Given the description of an element on the screen output the (x, y) to click on. 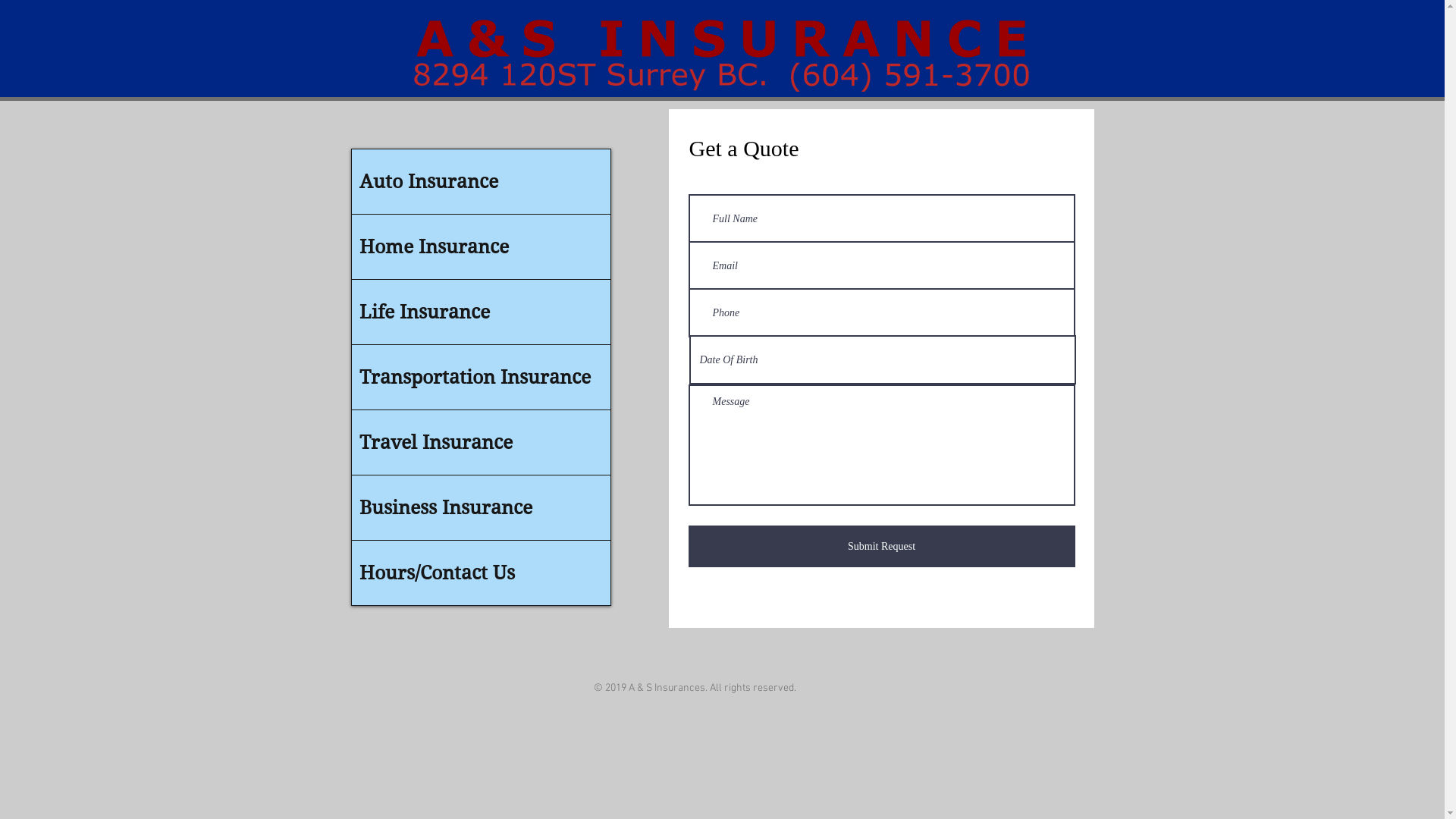
Home Insurance Element type: text (480, 246)
Hours/Contact Us Element type: text (480, 572)
Business Insurance Element type: text (480, 507)
Transportation Insurance Element type: text (480, 377)
Submit Request Element type: text (881, 546)
Travel Insurance Element type: text (480, 442)
Auto Insurance Element type: text (480, 181)
Life Insurance Element type: text (480, 311)
